Given the description of an element on the screen output the (x, y) to click on. 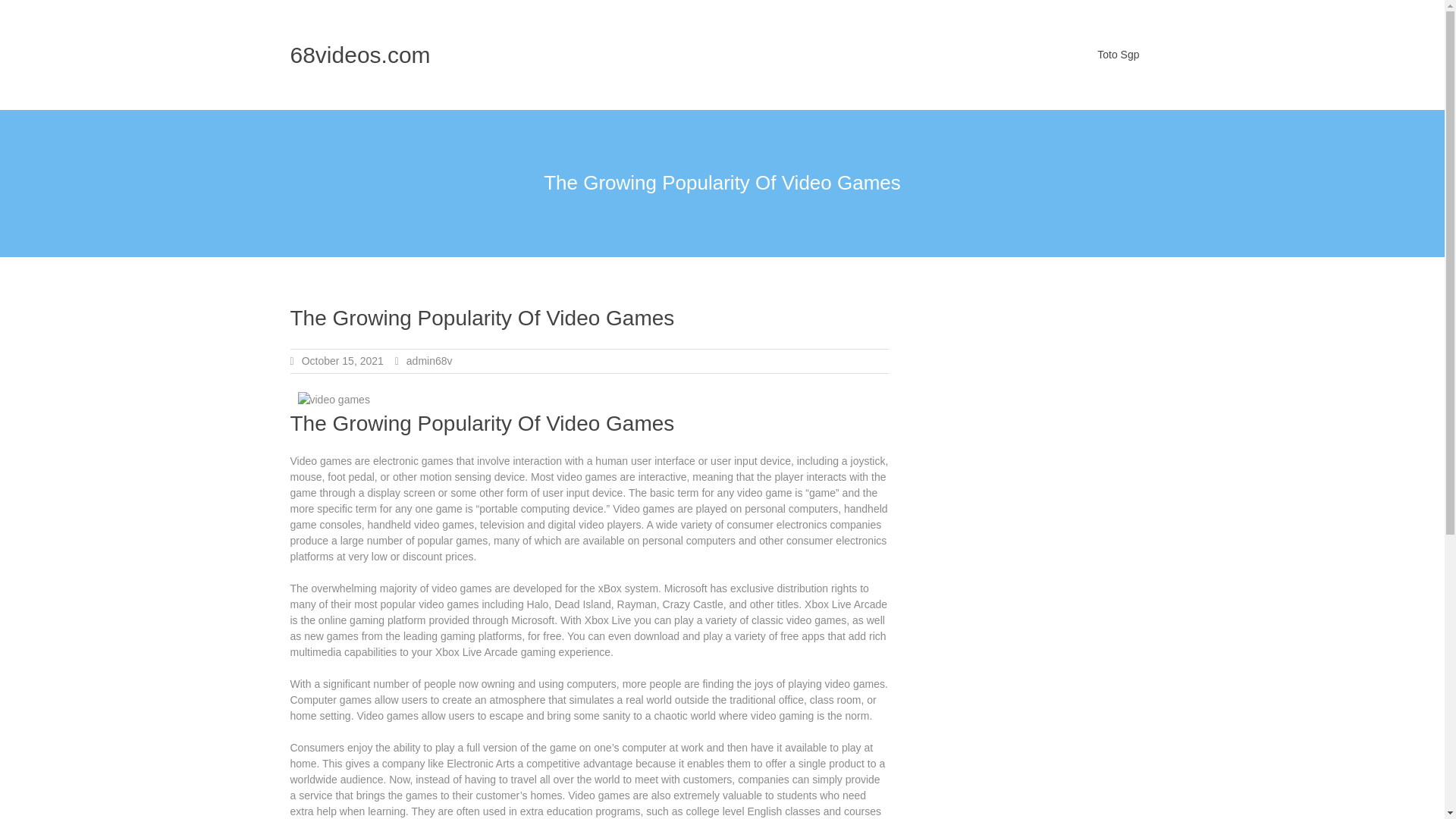
Toto Sgp (1117, 55)
admin68v (429, 360)
68videos.com (359, 54)
October 15, 2021 (342, 360)
